Given the description of an element on the screen output the (x, y) to click on. 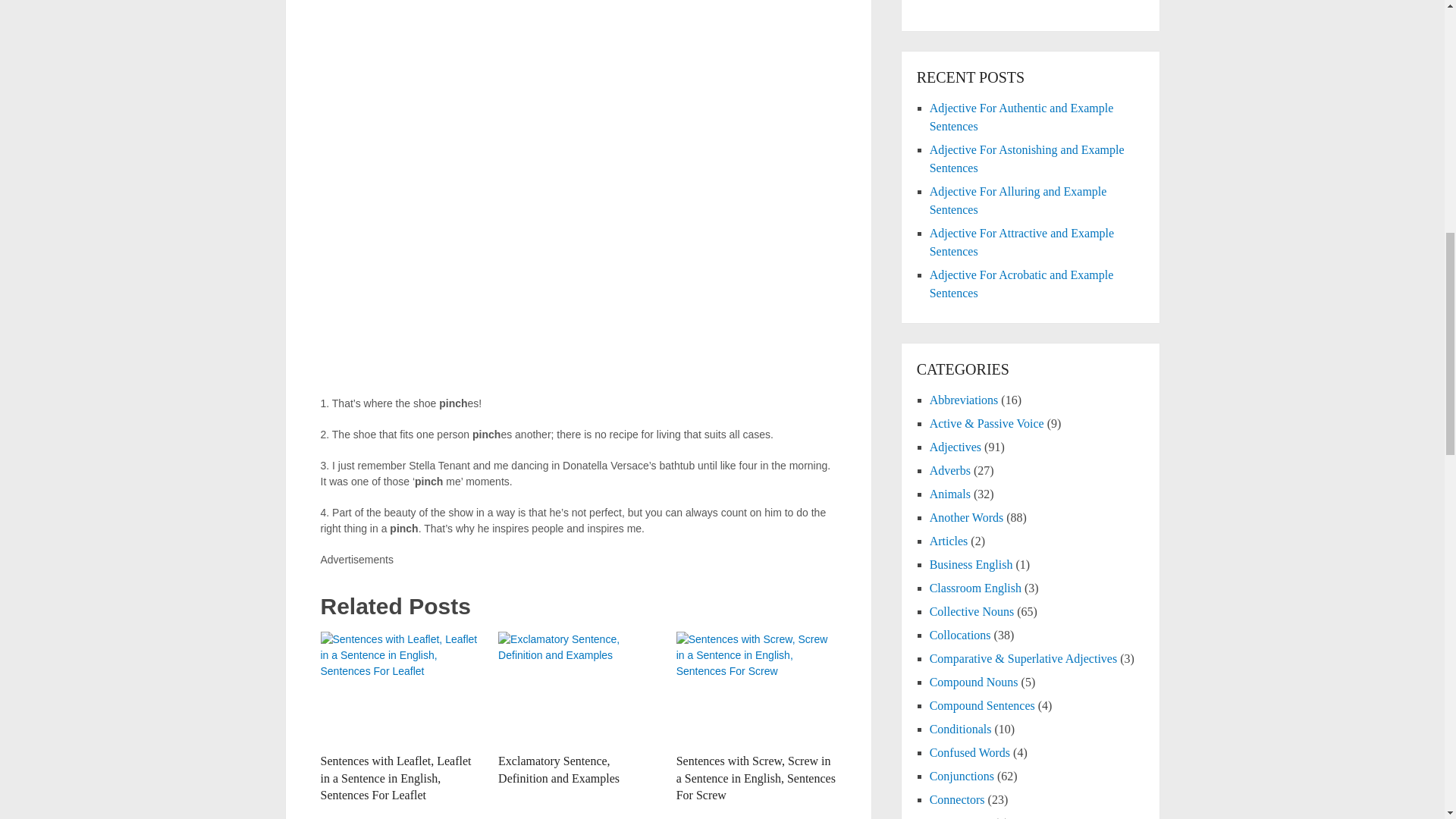
Exclamatory Sentence, Definition and Examples (558, 768)
Advertisement (1030, 7)
Exclamatory Sentence, Definition and Examples (577, 688)
